Given the description of an element on the screen output the (x, y) to click on. 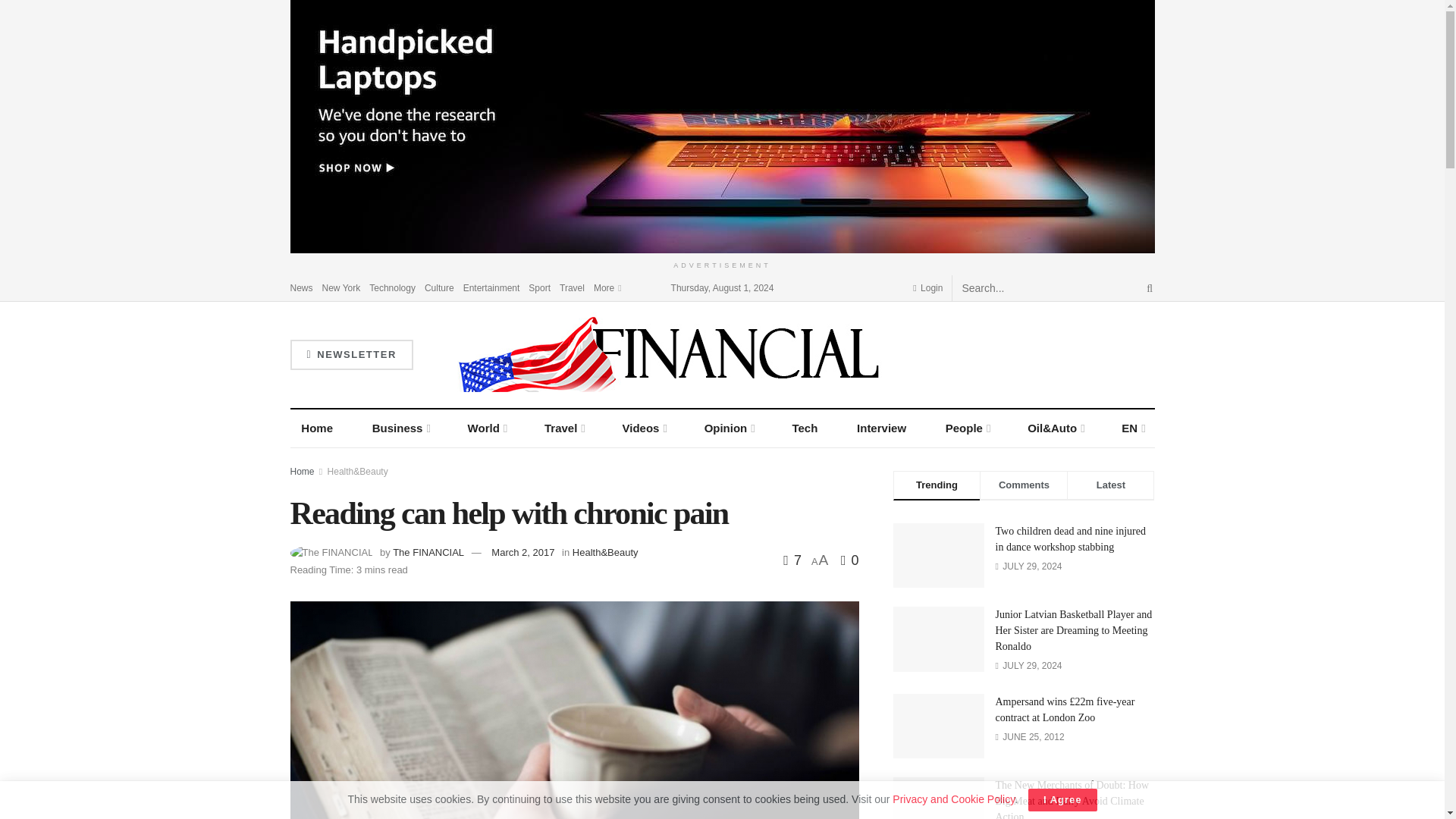
Login (927, 287)
Business (400, 428)
New York (341, 287)
More (607, 287)
Home (316, 428)
World (486, 428)
Entertainment (491, 287)
Technology (391, 287)
NEWSLETTER (350, 354)
Travel (572, 287)
Culture (439, 287)
